Given the description of an element on the screen output the (x, y) to click on. 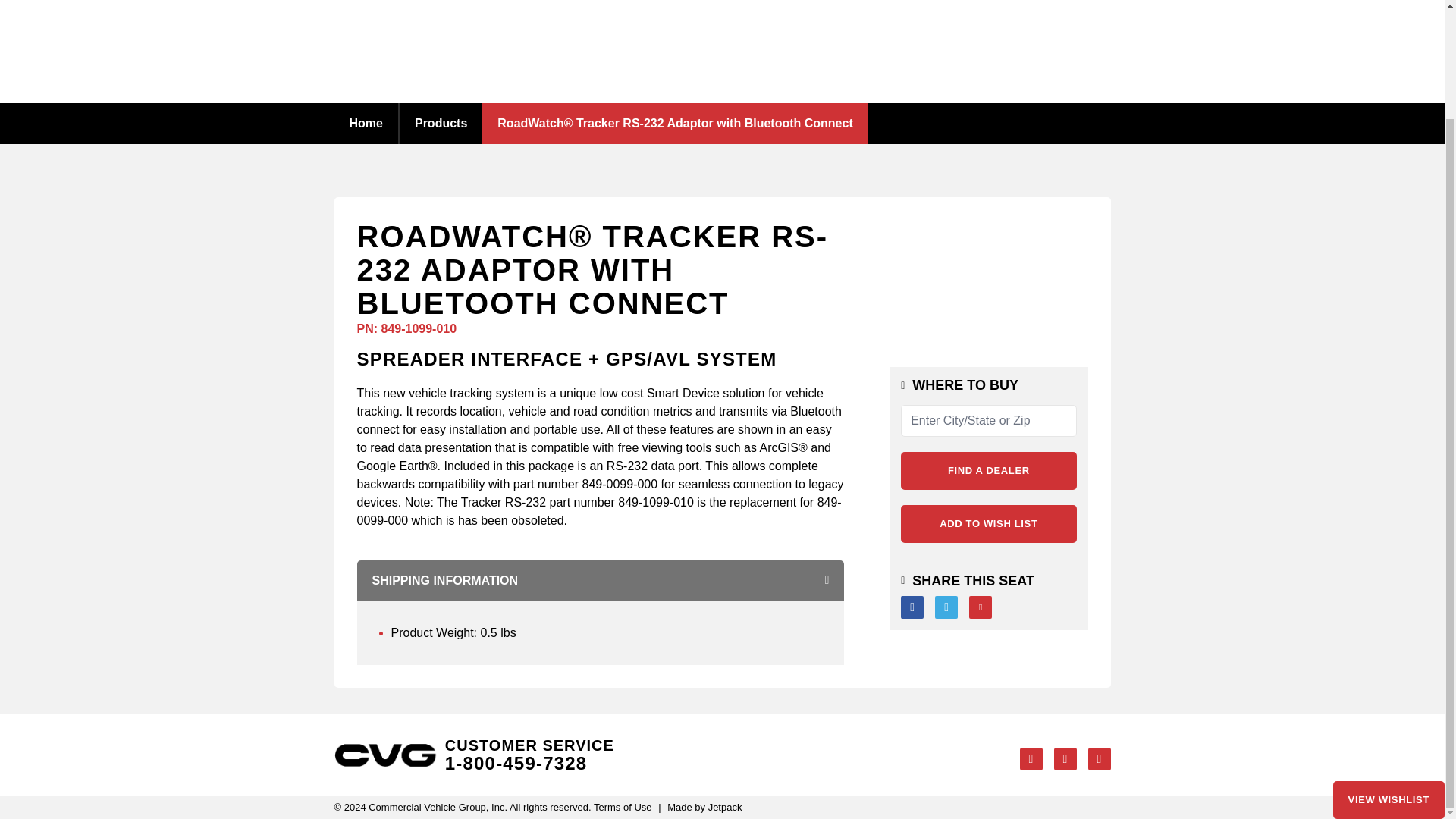
SHIPPING INFORMATION (600, 580)
Products (439, 122)
ADD TO WISH LIST (988, 523)
FIND A DEALER (988, 470)
Home (365, 122)
